Given the description of an element on the screen output the (x, y) to click on. 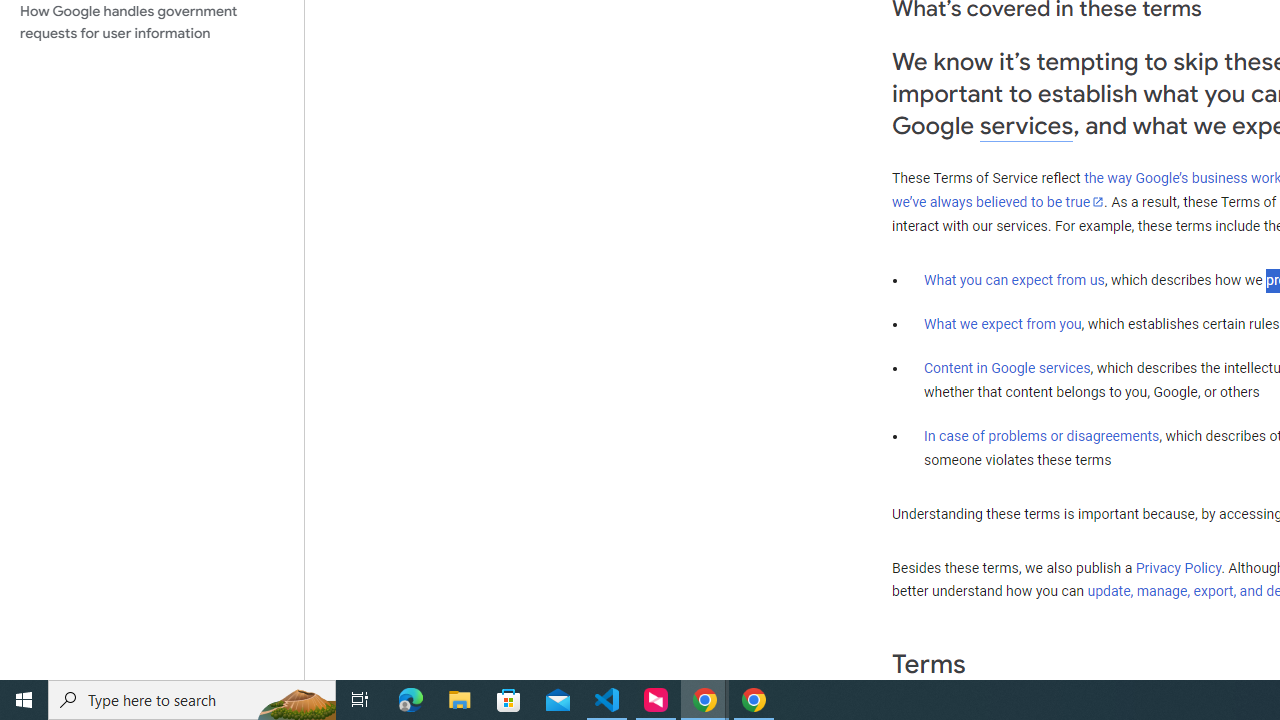
What you can expect from us (1014, 279)
services (1026, 125)
What we expect from you (1002, 323)
In case of problems or disagreements (1041, 435)
Content in Google services (1007, 368)
